Given the description of an element on the screen output the (x, y) to click on. 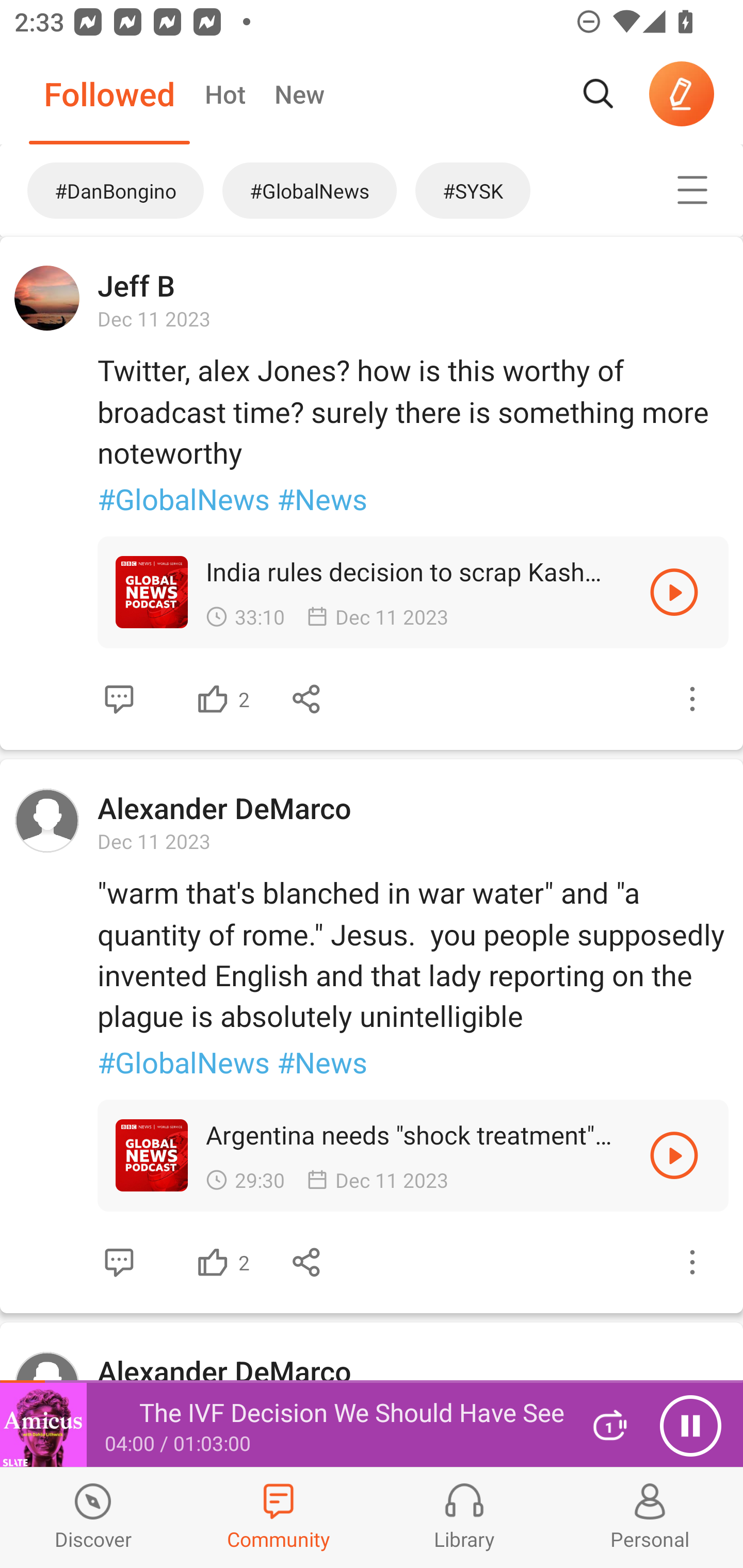
Followed (109, 93)
Hot (224, 93)
New (298, 93)
#DanBongino (106, 190)
#GlobalNews (309, 190)
#SYSK (518, 190)
 (692, 190)
 (673, 591)
 (119, 699)
 (212, 699)
 (307, 699)
 (692, 699)
 (673, 1154)
 (119, 1262)
 (212, 1262)
 (307, 1262)
 (692, 1262)
Pause (690, 1425)
Discover (92, 1517)
Community (278, 1517)
Library (464, 1517)
Profiles and Settings Personal (650, 1517)
